Given the description of an element on the screen output the (x, y) to click on. 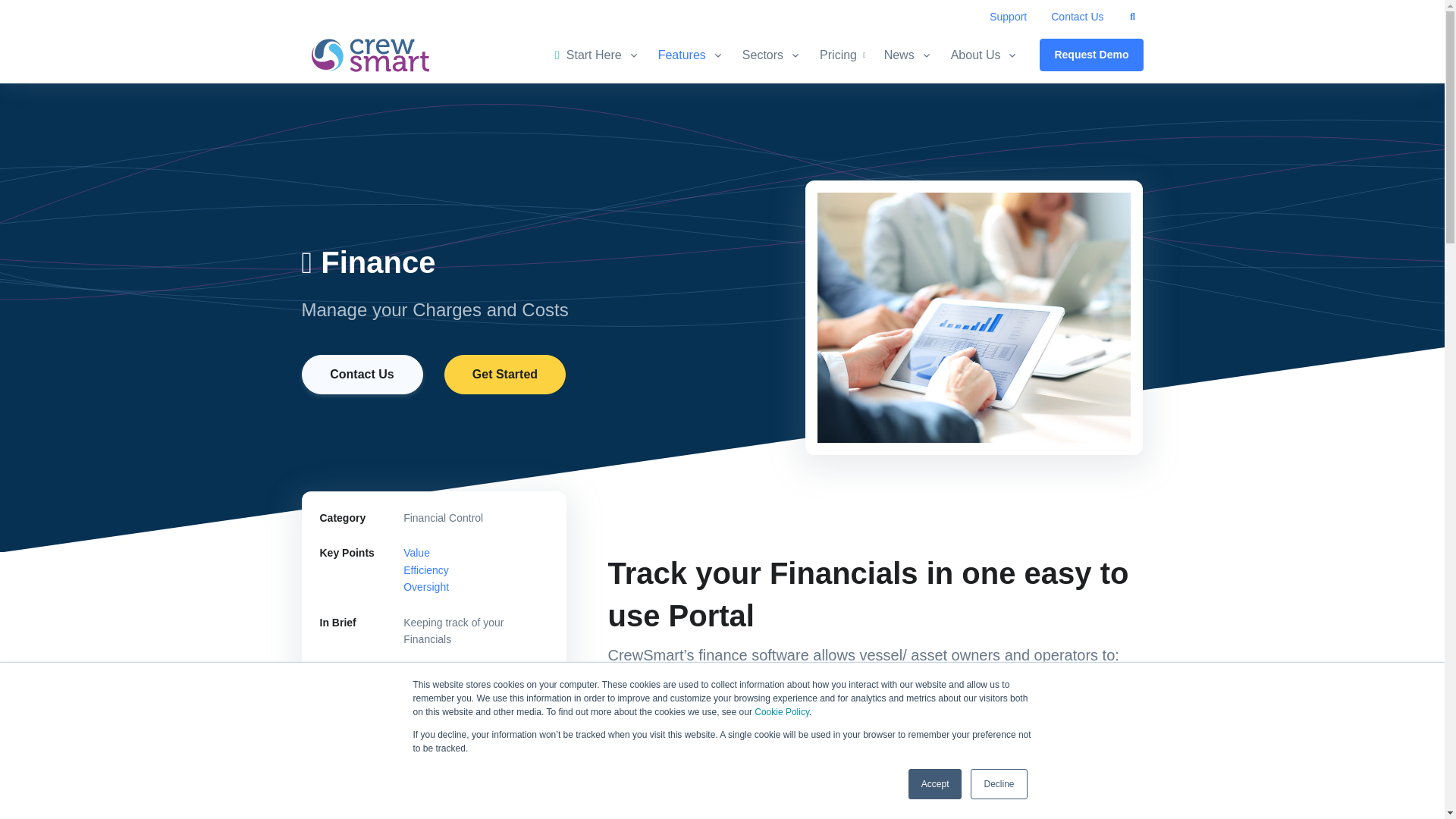
Support (1007, 16)
Cookie Policy (781, 711)
Accept (935, 784)
Contact Us (1077, 16)
Features (691, 55)
Decline (998, 784)
  Start Here (601, 55)
